Given the description of an element on the screen output the (x, y) to click on. 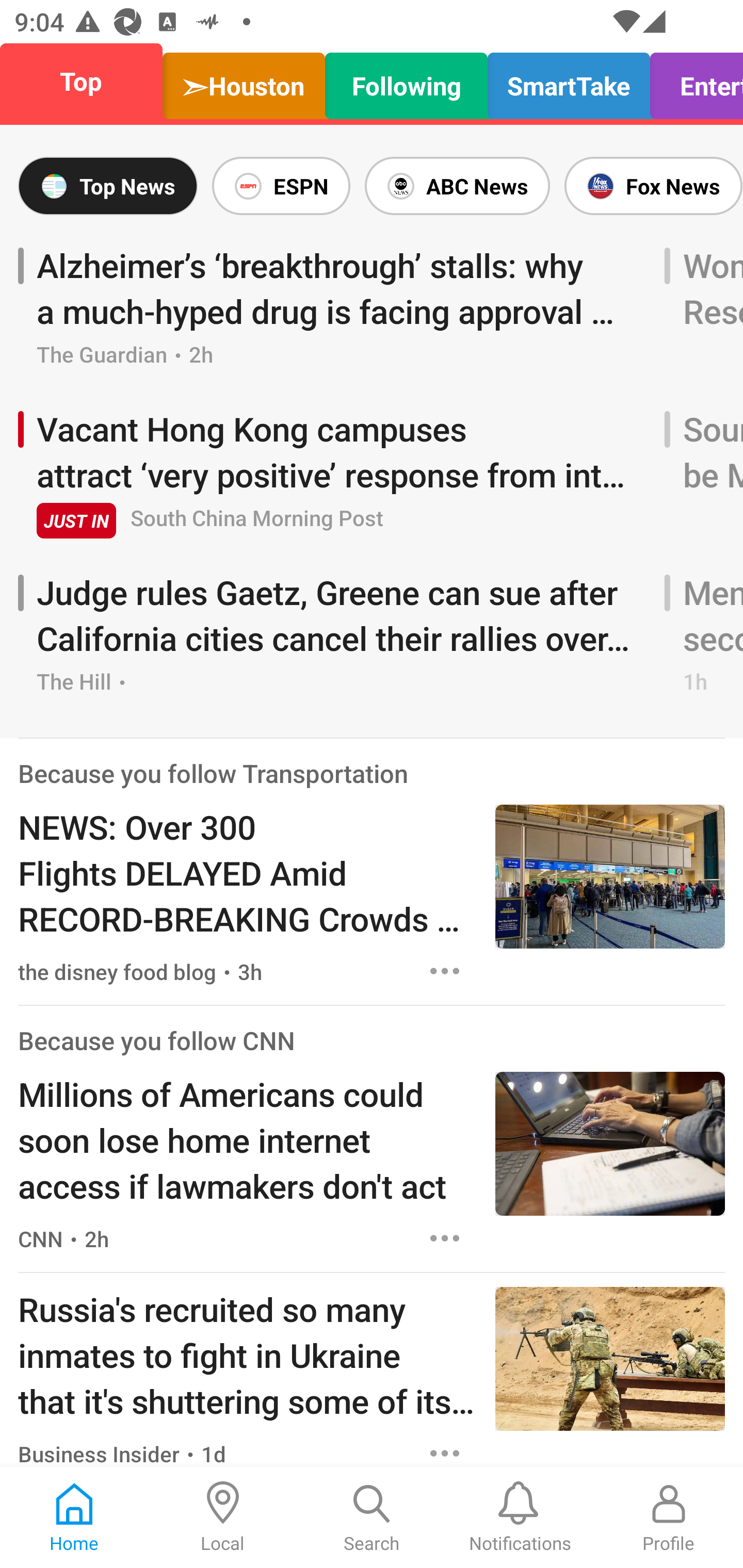
Top (86, 81)
➣Houston (243, 81)
Following (406, 81)
SmartTake (569, 81)
Entertain (690, 81)
ESPN (281, 185)
ABC News (457, 185)
Fox News (650, 185)
JUST IN (75, 520)
Because you follow Transportation (212, 772)
Options (444, 971)
Because you follow CNN (155, 1039)
Options (444, 1238)
Options (444, 1449)
Local (222, 1517)
Search (371, 1517)
Notifications (519, 1517)
Profile (668, 1517)
